Given the description of an element on the screen output the (x, y) to click on. 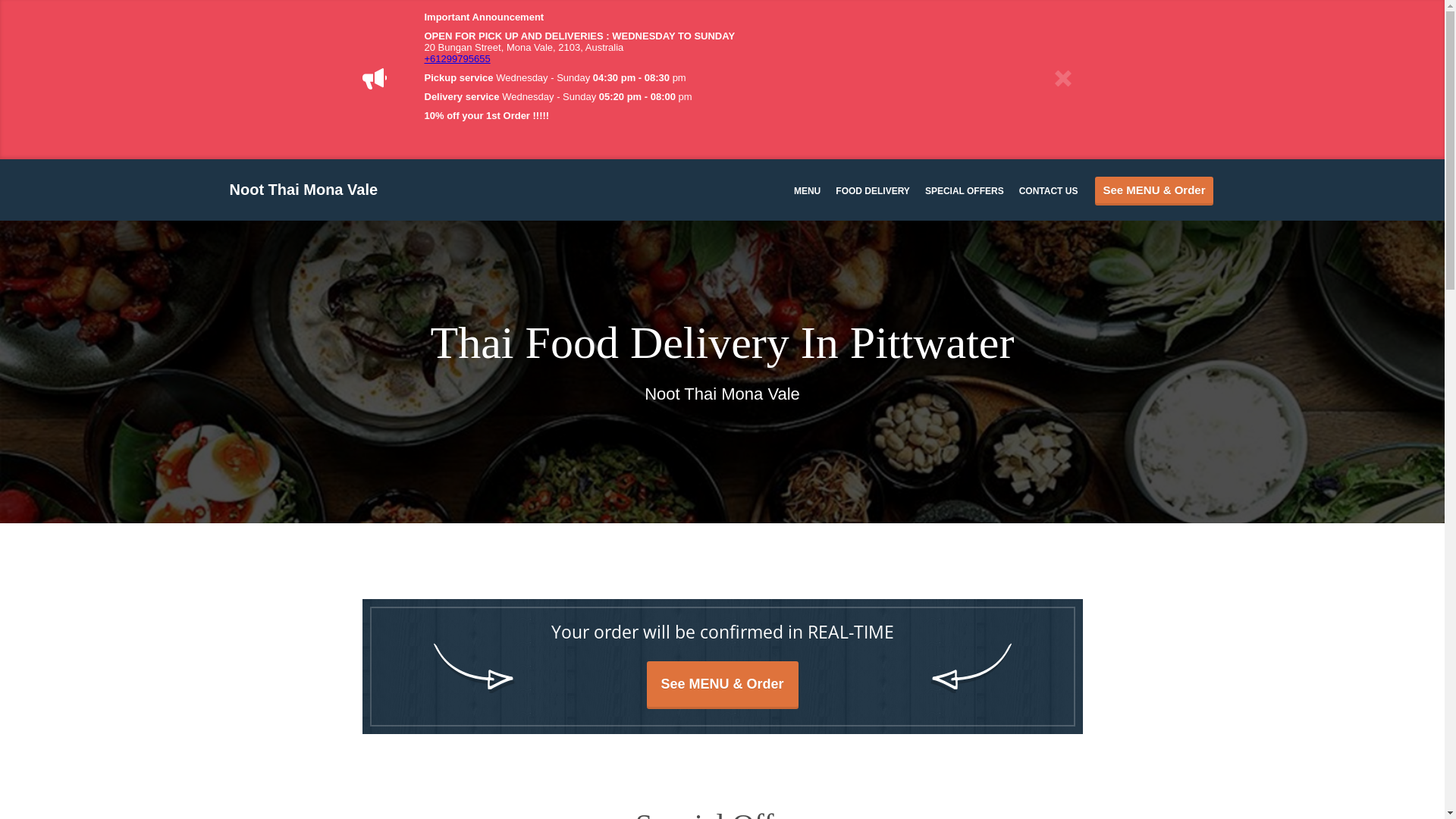
CONTACT US Element type: text (1048, 190)
SPECIAL OFFERS Element type: text (964, 190)
Noot Thai Mona Vale Element type: text (310, 189)
FOOD DELIVERY Element type: text (872, 190)
MENU Element type: text (806, 190)
+61299795655 Element type: text (457, 58)
